Given the description of an element on the screen output the (x, y) to click on. 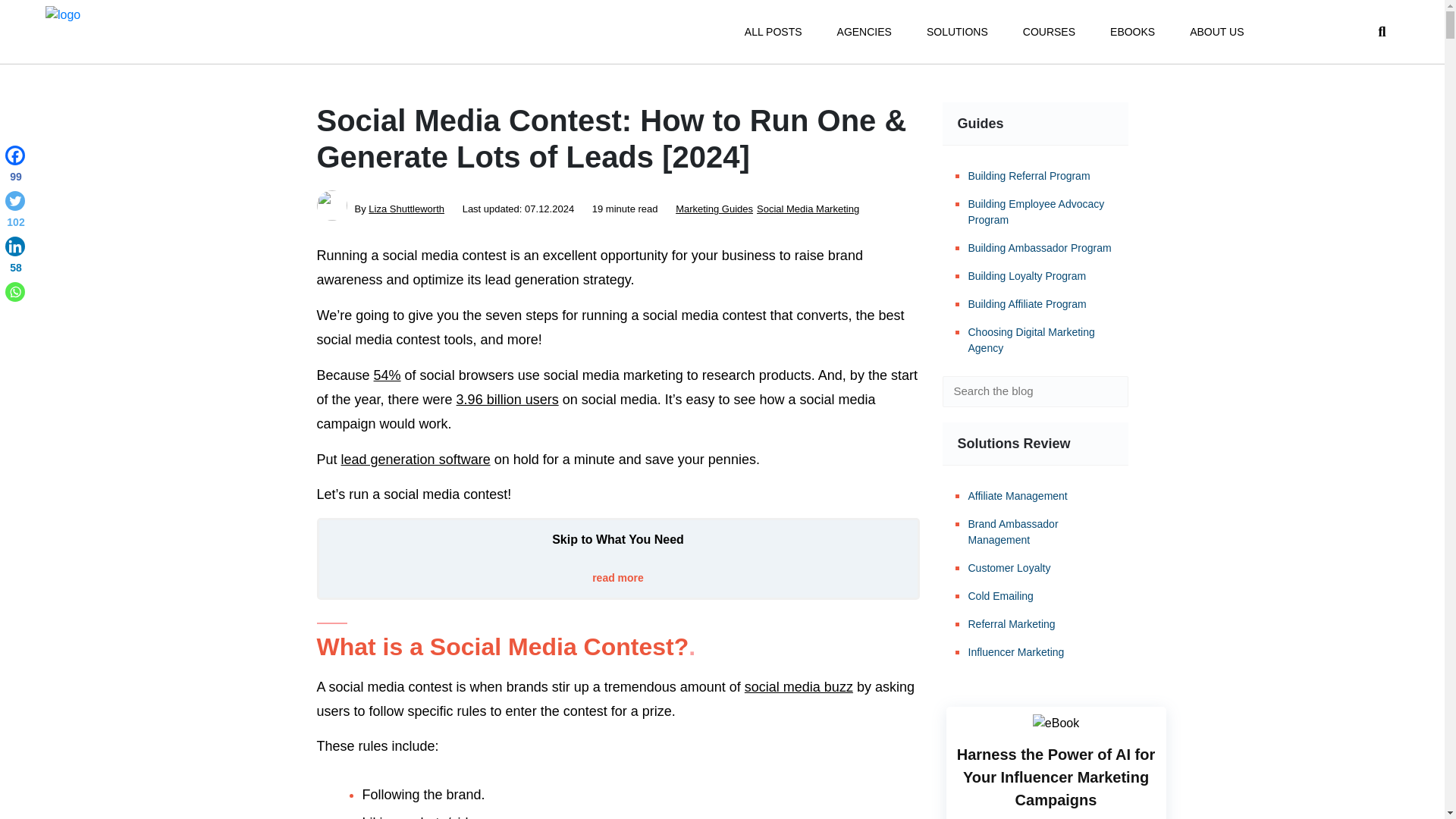
Linkedin (14, 257)
Facebook (14, 166)
Search (1105, 391)
Search (1105, 391)
Whatsapp (14, 291)
ALL POSTS (772, 31)
AGENCIES (864, 31)
SOLUTIONS (957, 31)
Twitter (14, 211)
